Given the description of an element on the screen output the (x, y) to click on. 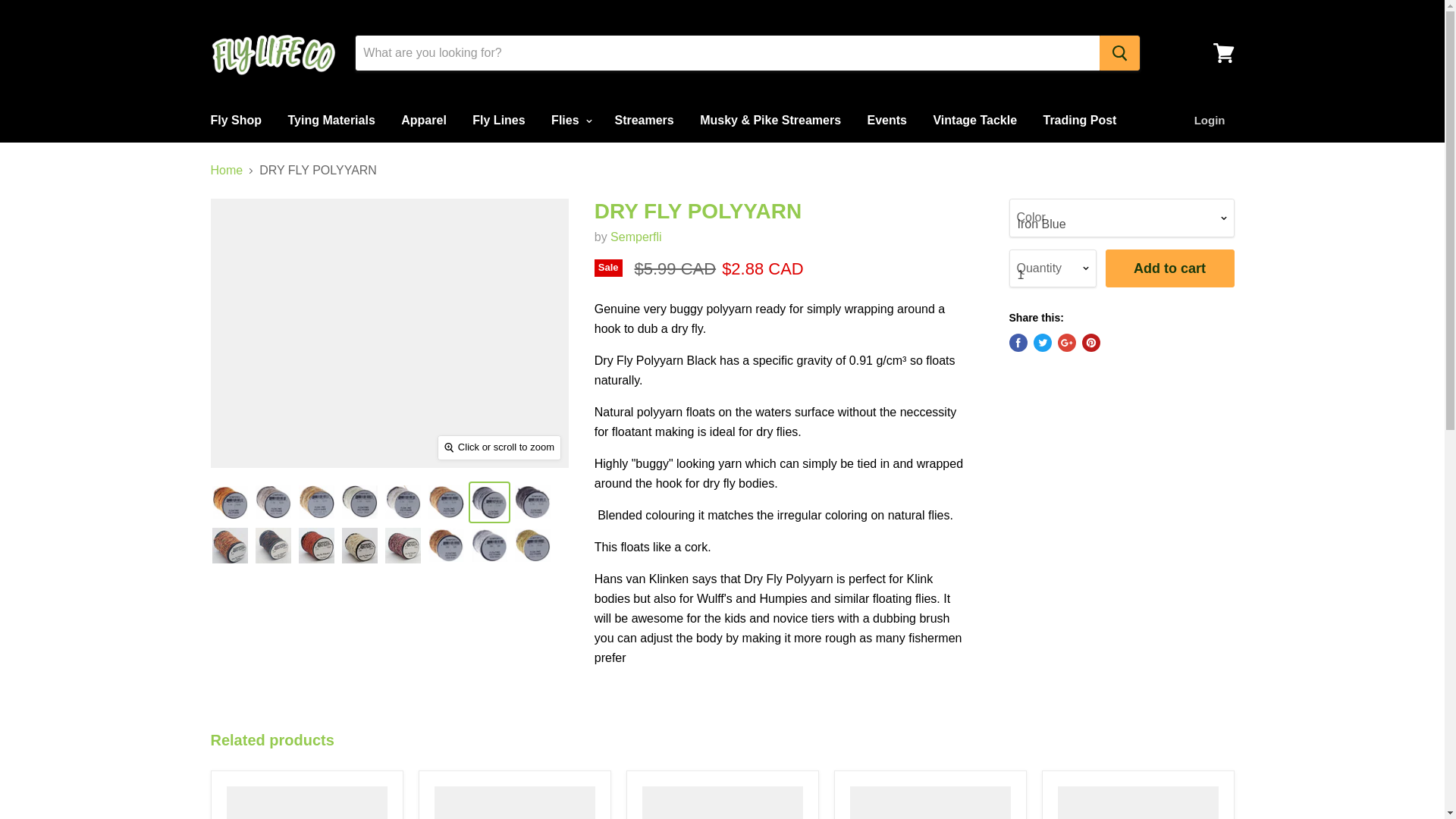
Fly Shop (235, 120)
Login (1209, 120)
Events (887, 120)
Flies (569, 120)
Tying Materials (331, 120)
View cart (1223, 53)
Trading Post (1078, 120)
Streamers (643, 120)
Semperfli (636, 236)
Vintage Tackle (974, 120)
